Given the description of an element on the screen output the (x, y) to click on. 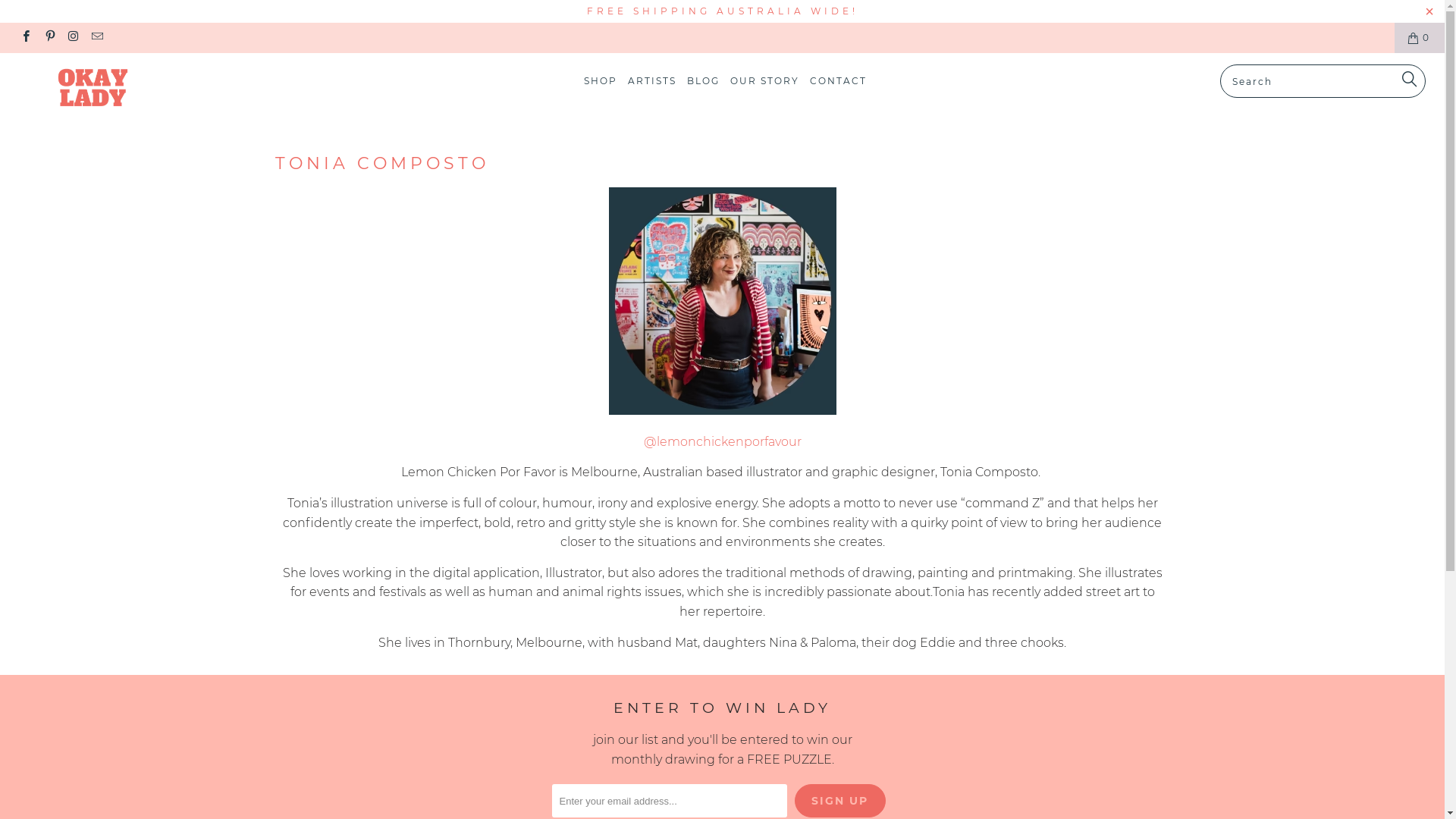
BLOG Element type: text (703, 81)
Sign Up Element type: text (839, 800)
0 Element type: text (1419, 37)
SHOP Element type: text (600, 81)
OUR STORY Element type: text (764, 81)
Email Okay Lady Element type: hover (96, 37)
Okay Lady on Facebook Element type: hover (24, 37)
Okay Lady on Instagram Element type: hover (72, 37)
Okay Lady on Pinterest Element type: hover (48, 37)
CONTACT Element type: text (837, 81)
@lemonchickenporfavour Element type: text (721, 441)
Tonia_Conposto_Instagram Element type: hover (721, 410)
Okay Lady Element type: hover (123, 89)
ARTISTS Element type: text (651, 81)
